Given the description of an element on the screen output the (x, y) to click on. 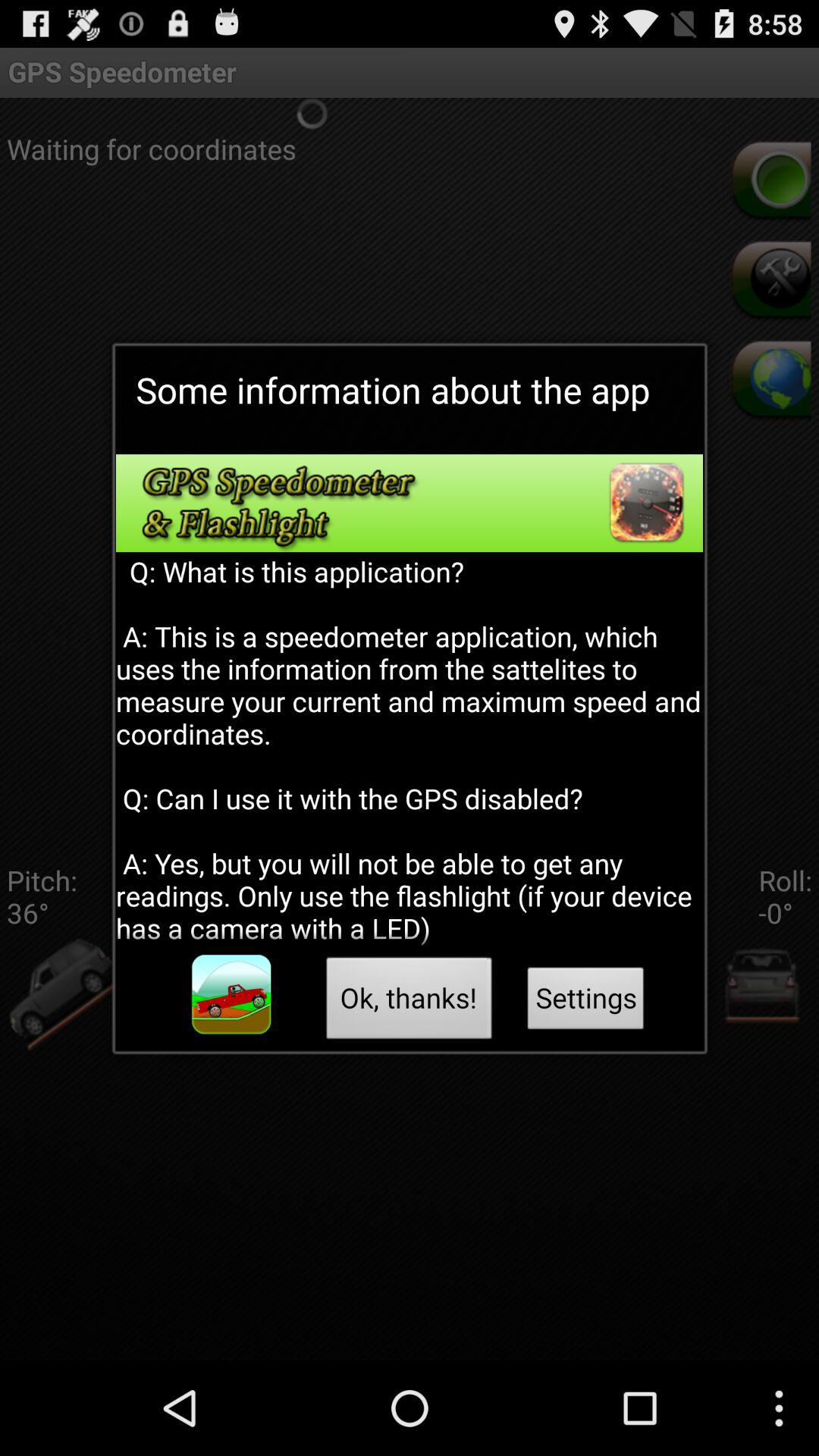
car games (231, 994)
